Given the description of an element on the screen output the (x, y) to click on. 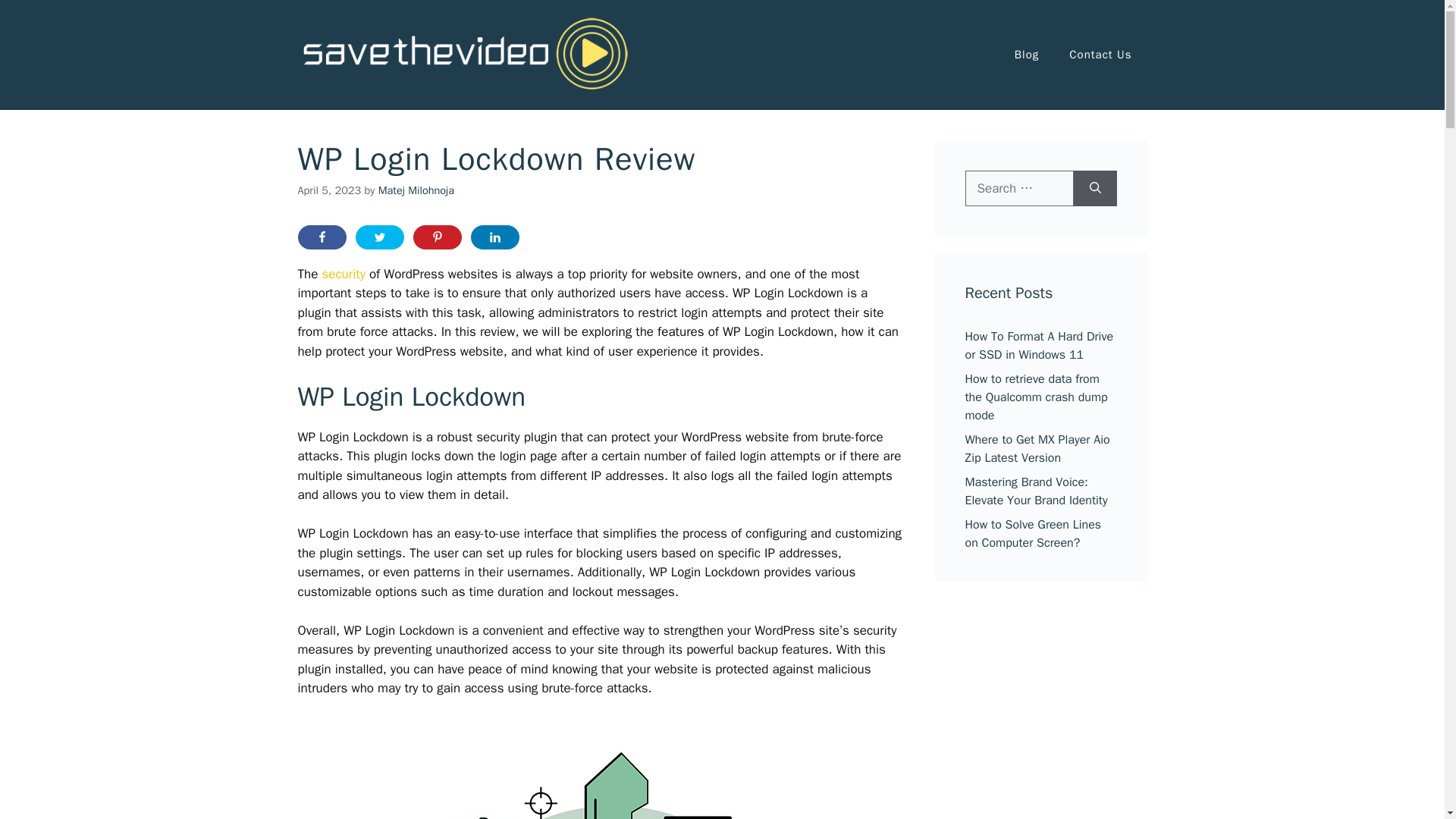
Share on LinkedIn (494, 237)
Mastering Brand Voice: Elevate Your Brand Identity (1034, 491)
How to Solve Green Lines on Computer Screen? (1031, 533)
Where to Get MX Player Aio Zip Latest Version (1036, 449)
Share on Pinterest (436, 237)
Share on Facebook (321, 237)
security (343, 273)
View all posts by Matej Milohnoja (416, 190)
Matej Milohnoja (416, 190)
Share on Twitter (379, 237)
